Given the description of an element on the screen output the (x, y) to click on. 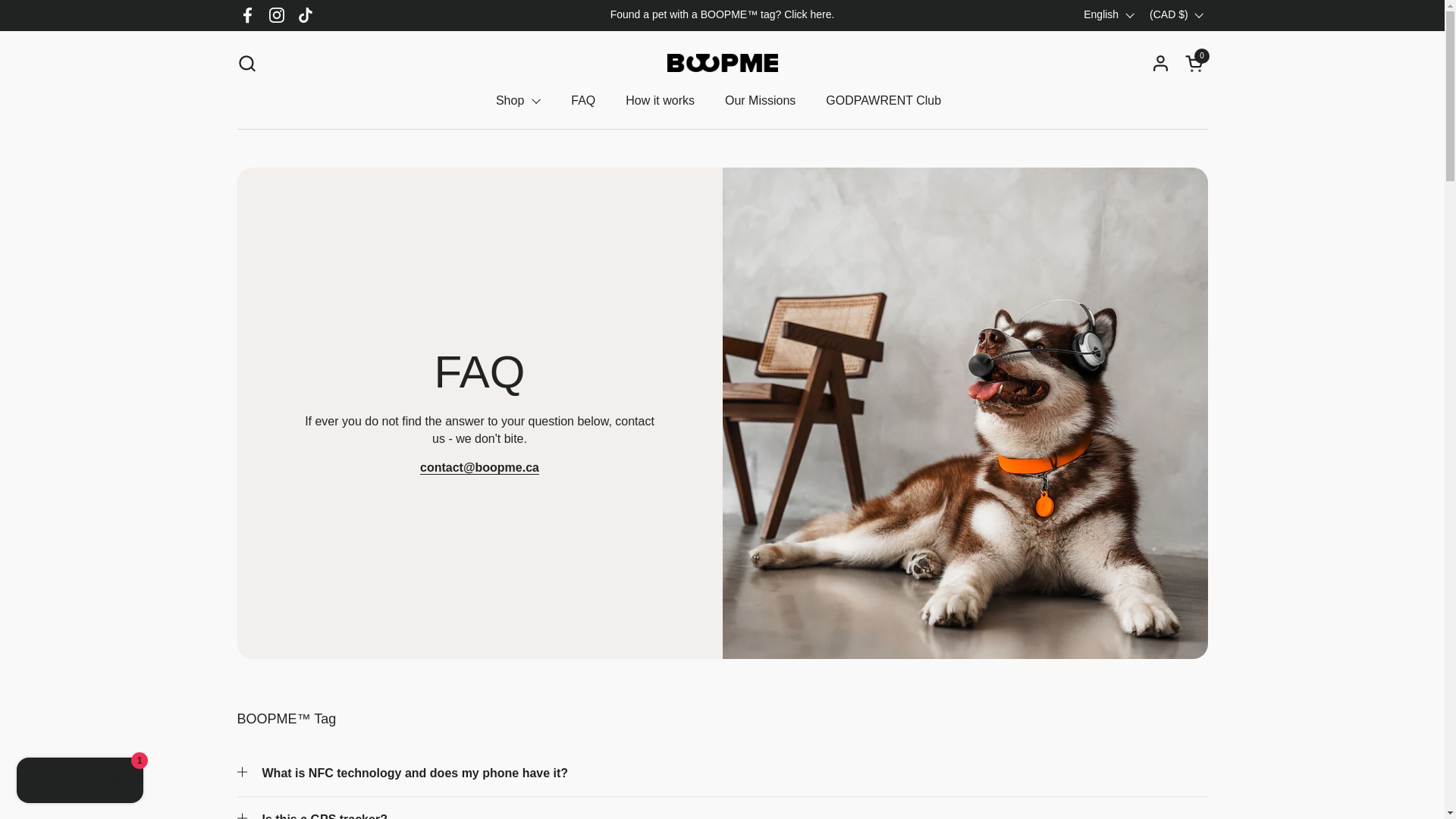
FAQ (583, 100)
GODPAWRENT Club (883, 100)
Our Missions (760, 100)
Open cart (1196, 62)
TikTok (305, 14)
Instagram (276, 14)
Facebook (247, 14)
Shopify online store chat (79, 781)
Skip to content (1196, 62)
How it works (245, 62)
English (660, 100)
Shop (1108, 14)
BOOPME (518, 100)
